Given the description of an element on the screen output the (x, y) to click on. 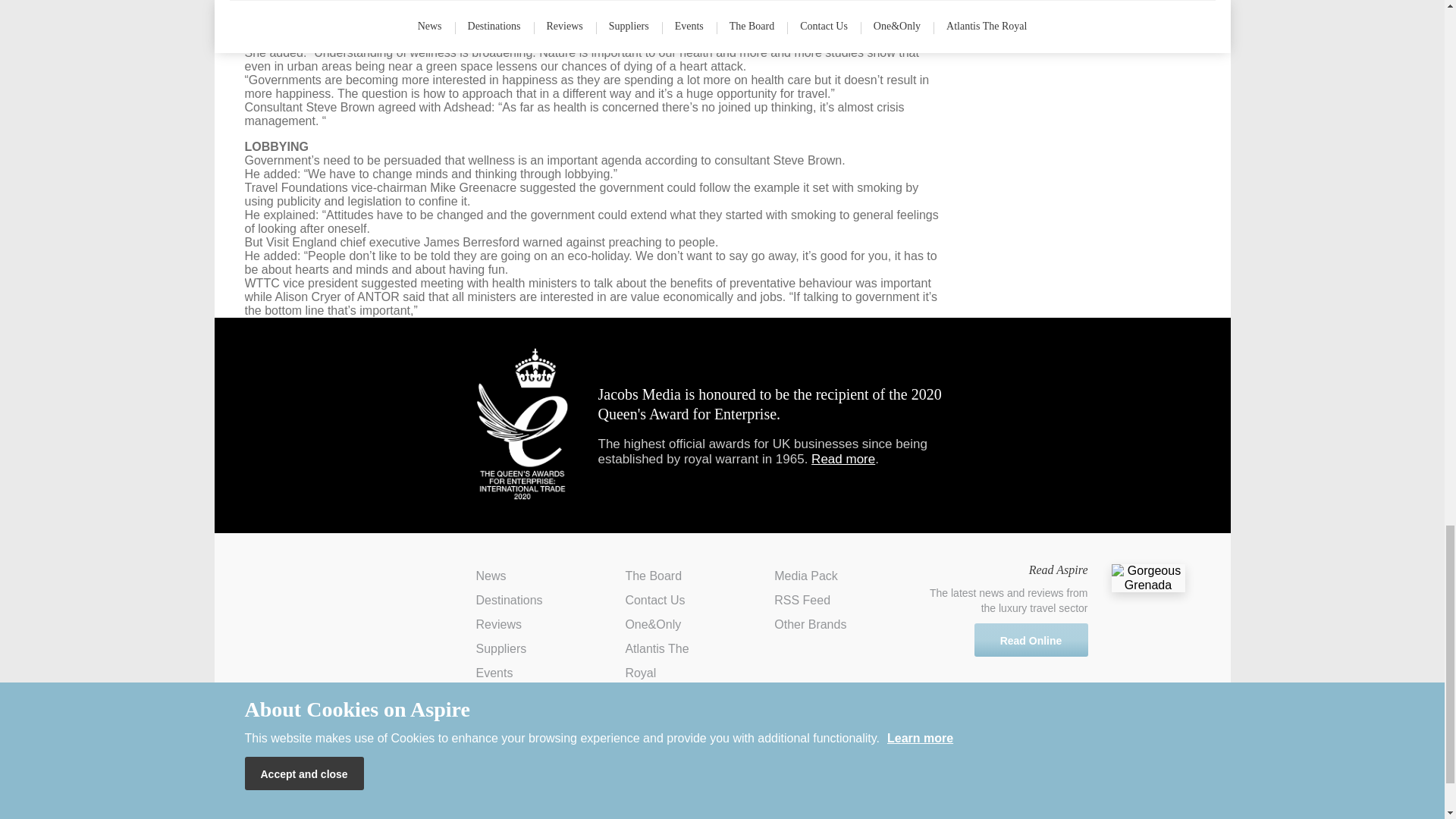
Aspire - The Luxury Travel Club from Travel Weekly (322, 588)
Events (494, 672)
Contact Us (654, 599)
Reviews (498, 624)
Read more (842, 459)
The Board (652, 575)
News (491, 575)
Destinations (509, 599)
Suppliers (501, 648)
